Given the description of an element on the screen output the (x, y) to click on. 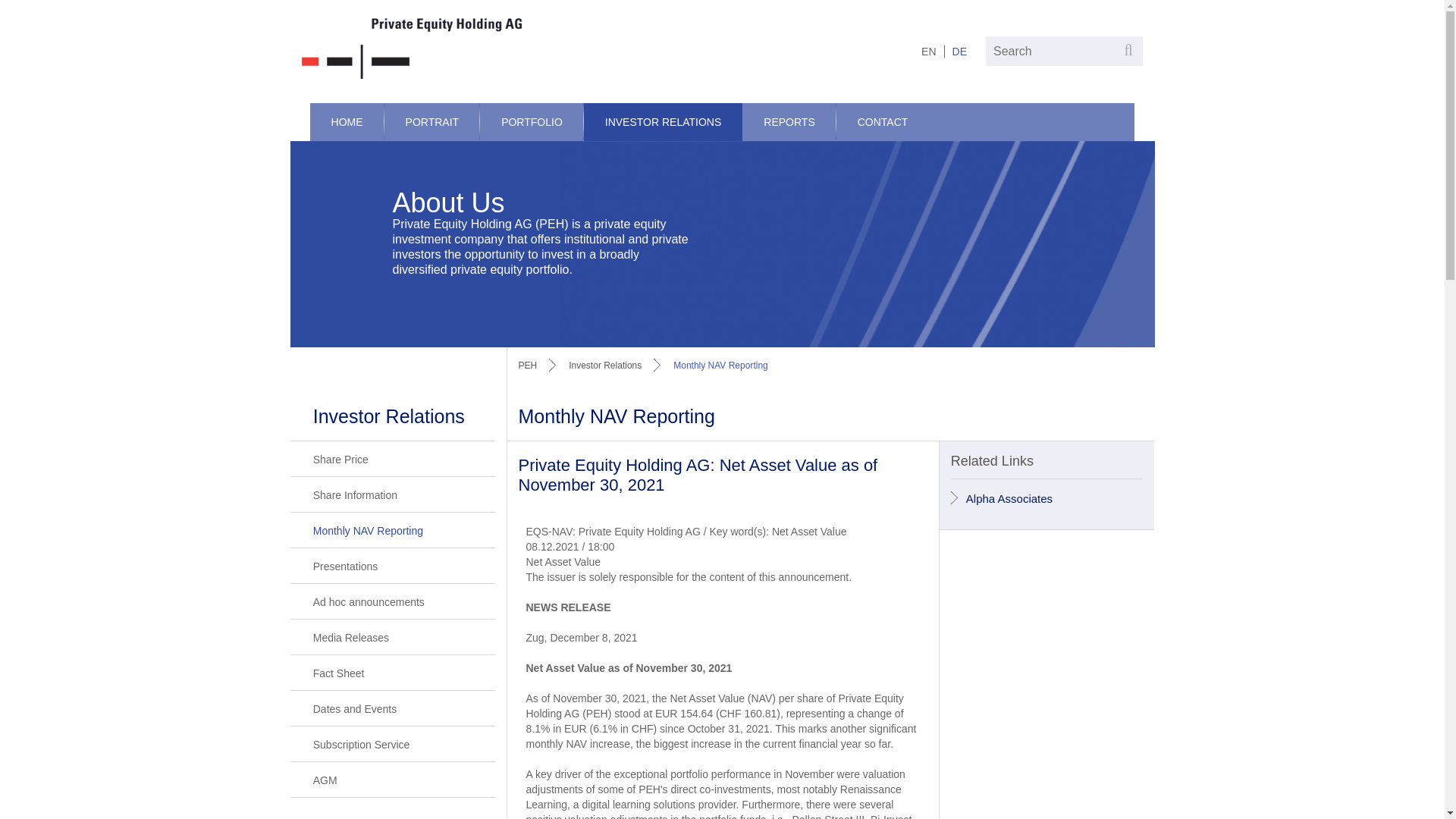
Go to PEH. (527, 365)
PORTRAIT (432, 121)
Go to Investor Relations. (605, 365)
DE (959, 51)
PORTFOLIO (531, 121)
Go to Media Releases. (720, 365)
HOME (347, 121)
EN (928, 51)
